Given the description of an element on the screen output the (x, y) to click on. 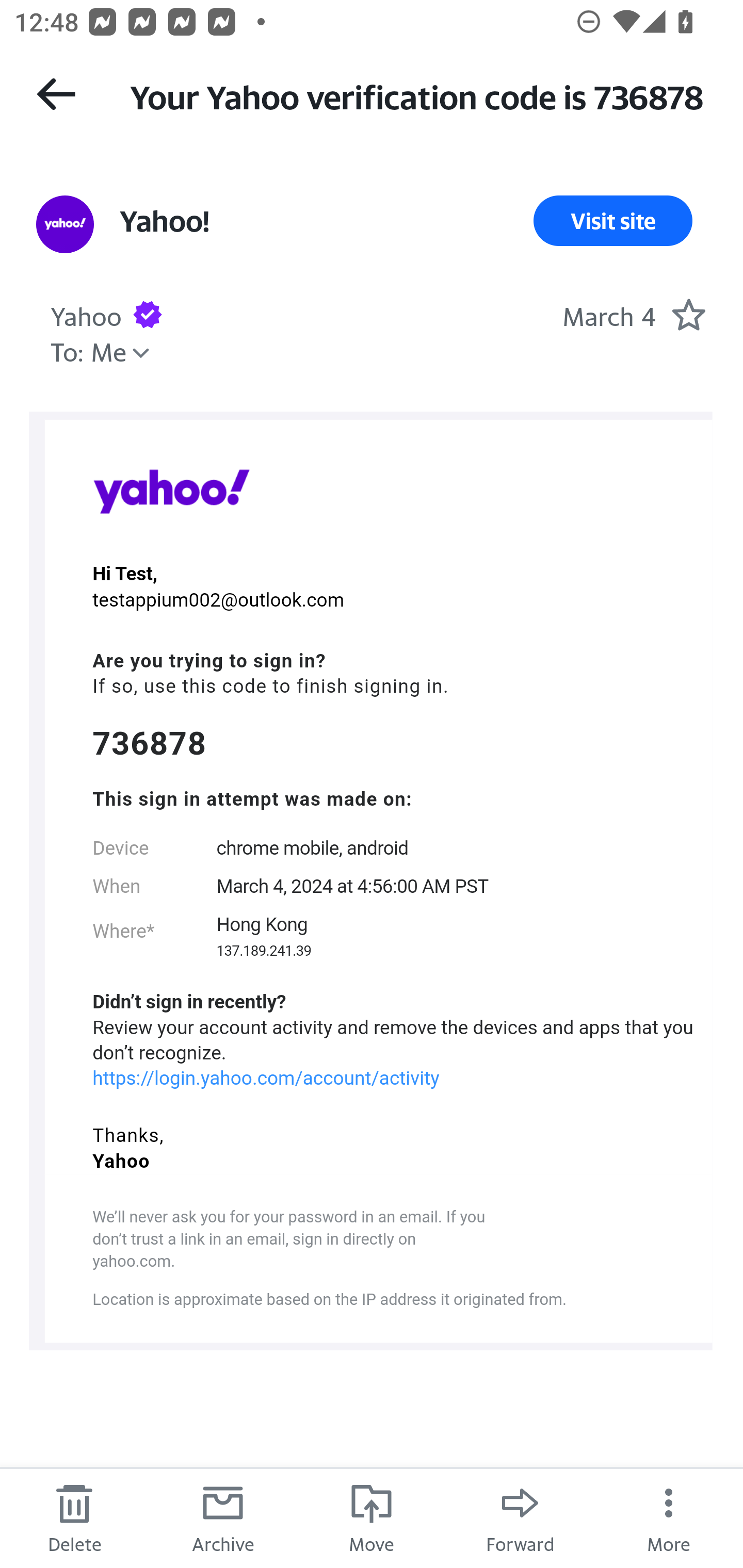
Back (55, 93)
Your Yahoo verification code is 736878 (418, 94)
View all messages from sender (64, 225)
Visit site Visit Site Link (612, 221)
Yahoo! Sender Yahoo! (164, 220)
Yahoo Sender Yahoo (86, 314)
Mark as starred. (688, 314)
Yahoo (171, 490)
https://login.yahoo.com/account/activity (265, 1077)
Delete (74, 1517)
Archive (222, 1517)
Move (371, 1517)
Forward (519, 1517)
More (668, 1517)
